Given the description of an element on the screen output the (x, y) to click on. 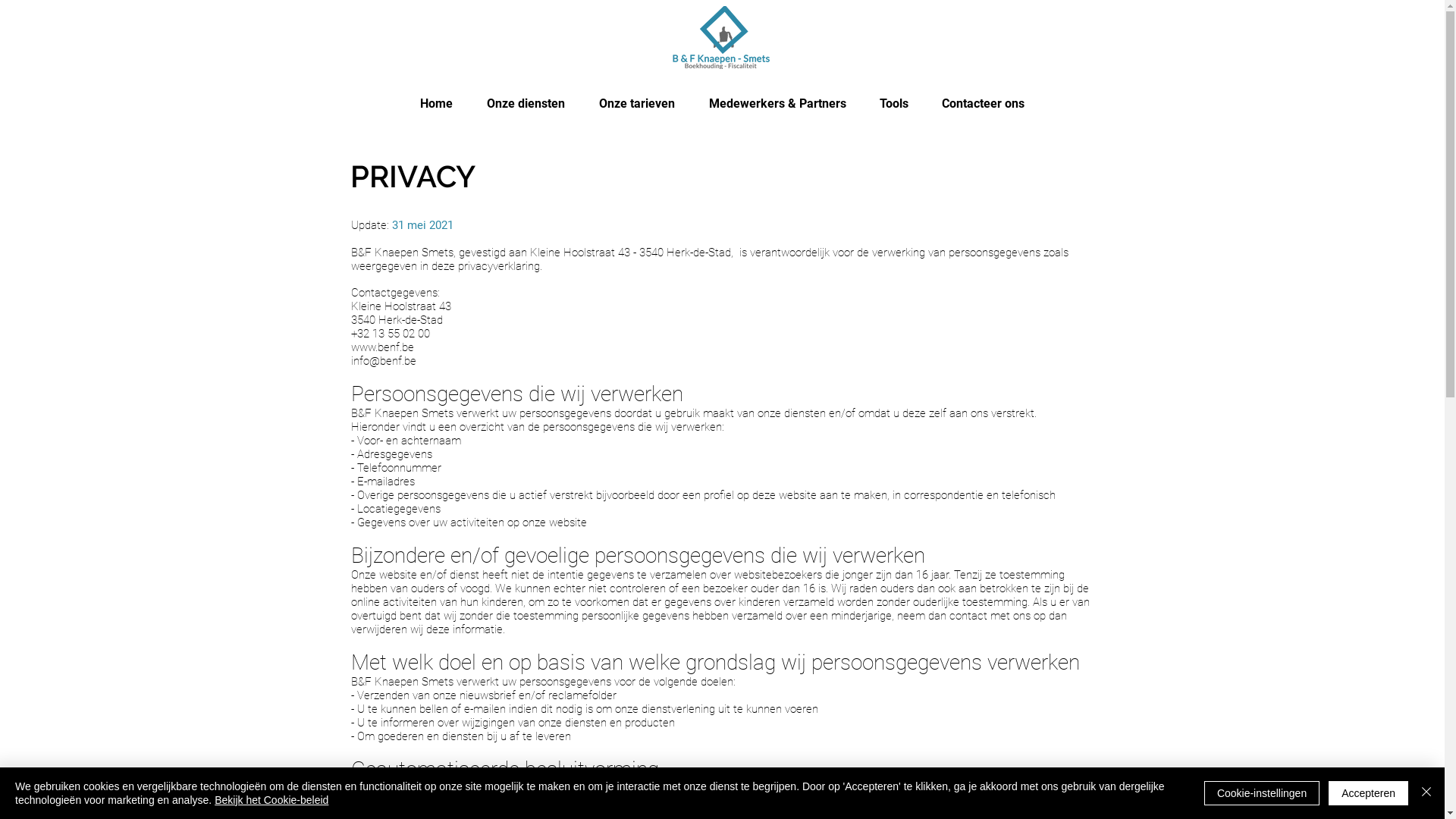
info@benf.be Element type: text (382, 360)
Bekijk het Cookie-beleid Element type: text (271, 799)
Cookie-instellingen Element type: text (1261, 793)
Medewerkers & Partners Element type: text (776, 103)
Home Element type: text (436, 103)
Onze diensten Element type: text (526, 103)
Accepteren Element type: text (1368, 793)
Onze tarieven Element type: text (637, 103)
www.benf.be Element type: text (381, 347)
Tools Element type: text (893, 103)
Contacteer ons Element type: text (983, 103)
